Given the description of an element on the screen output the (x, y) to click on. 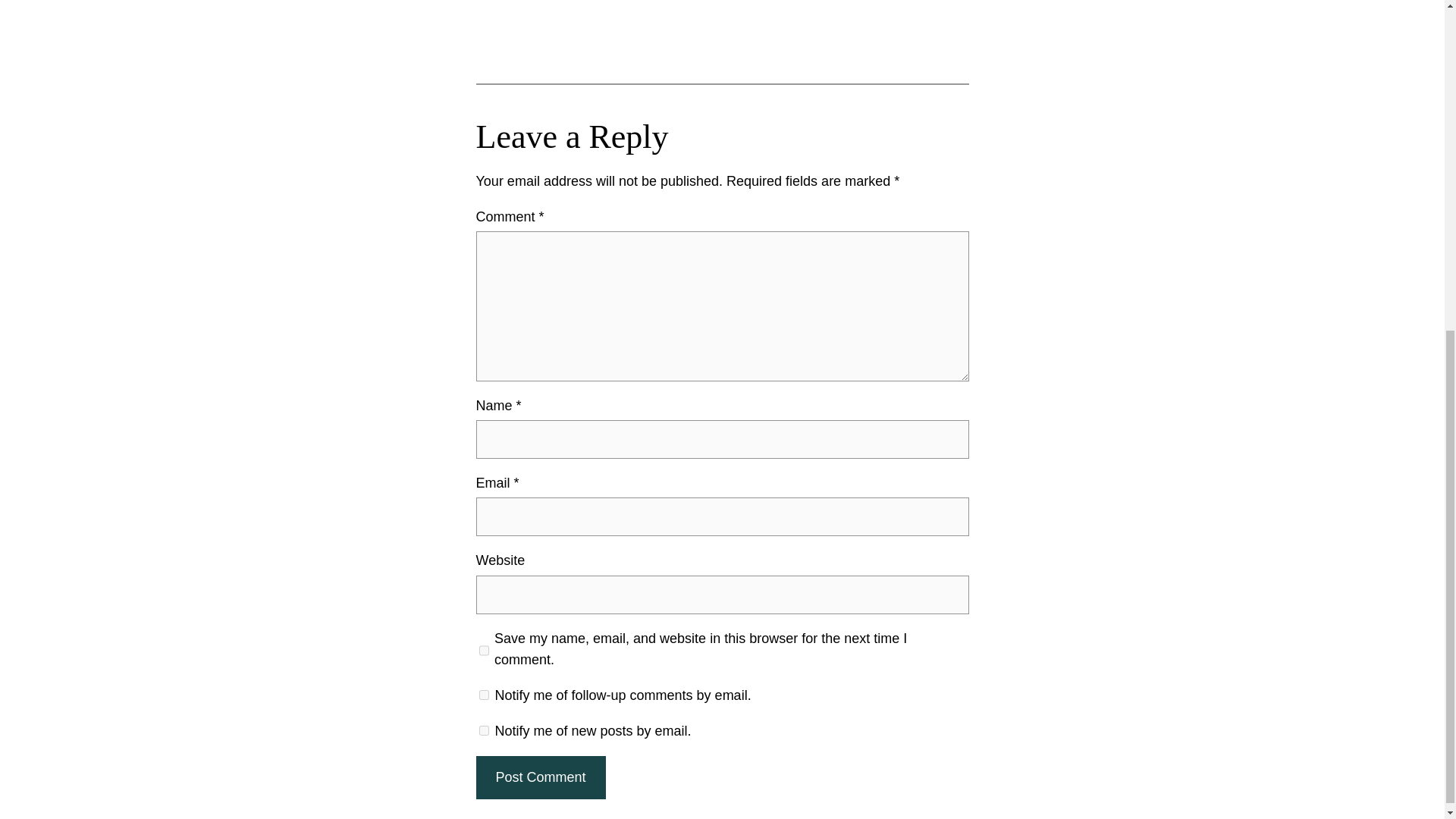
subscribe (484, 730)
subscribe (484, 695)
Post Comment (540, 777)
Post Comment (540, 777)
